Given the description of an element on the screen output the (x, y) to click on. 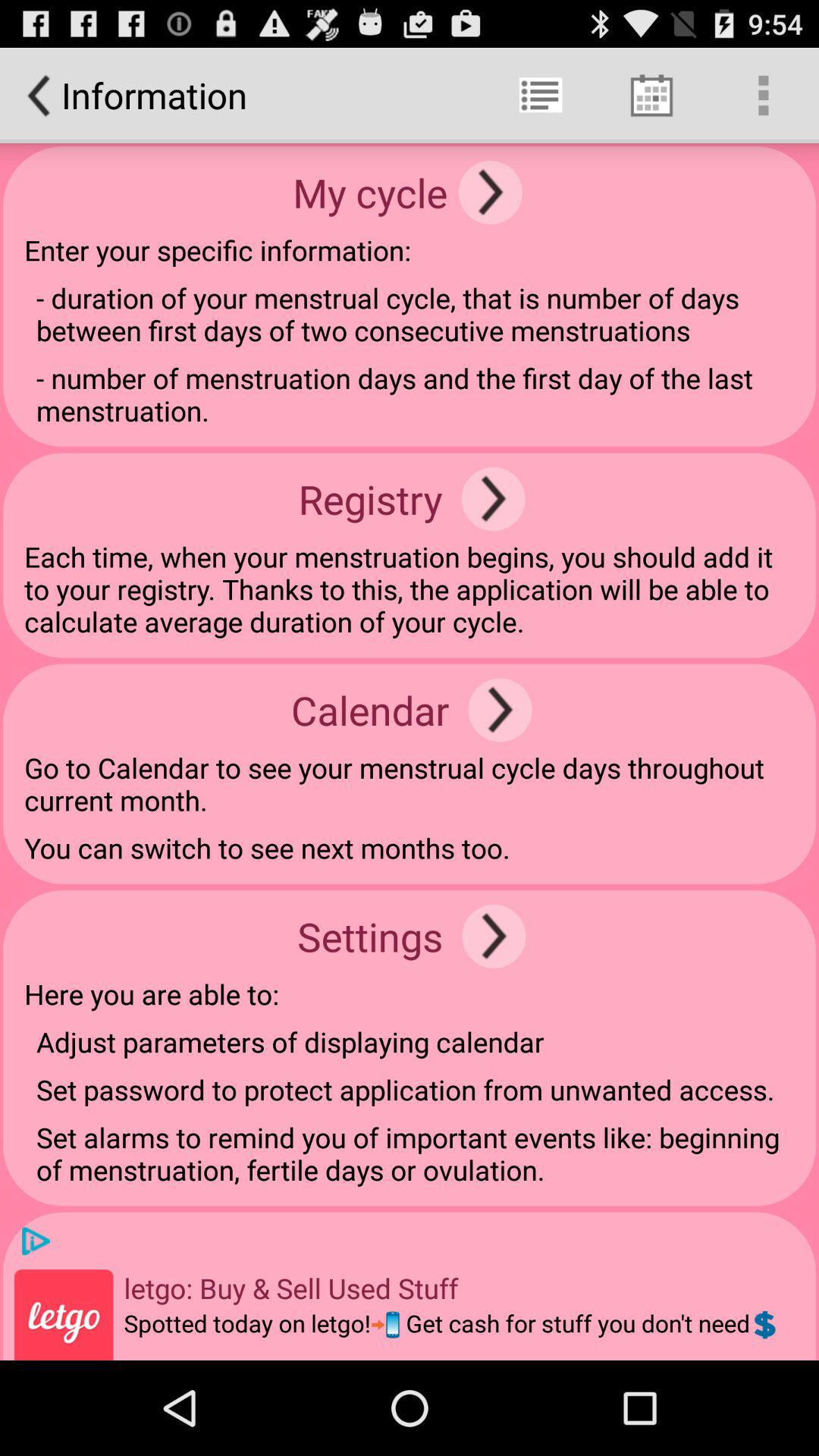
go to calender option (500, 710)
